Given the description of an element on the screen output the (x, y) to click on. 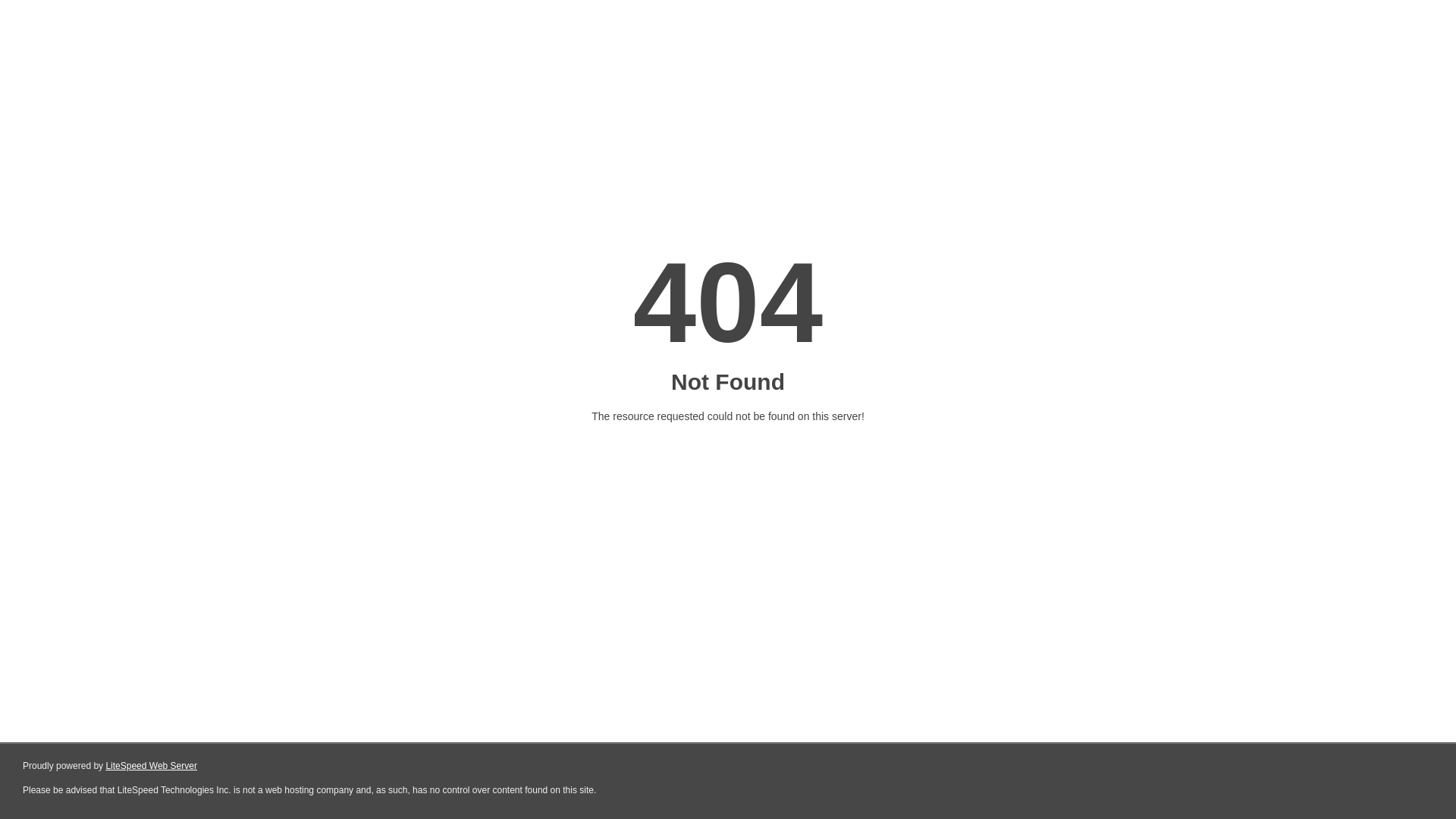
LiteSpeed Web Server Element type: text (151, 765)
